Given the description of an element on the screen output the (x, y) to click on. 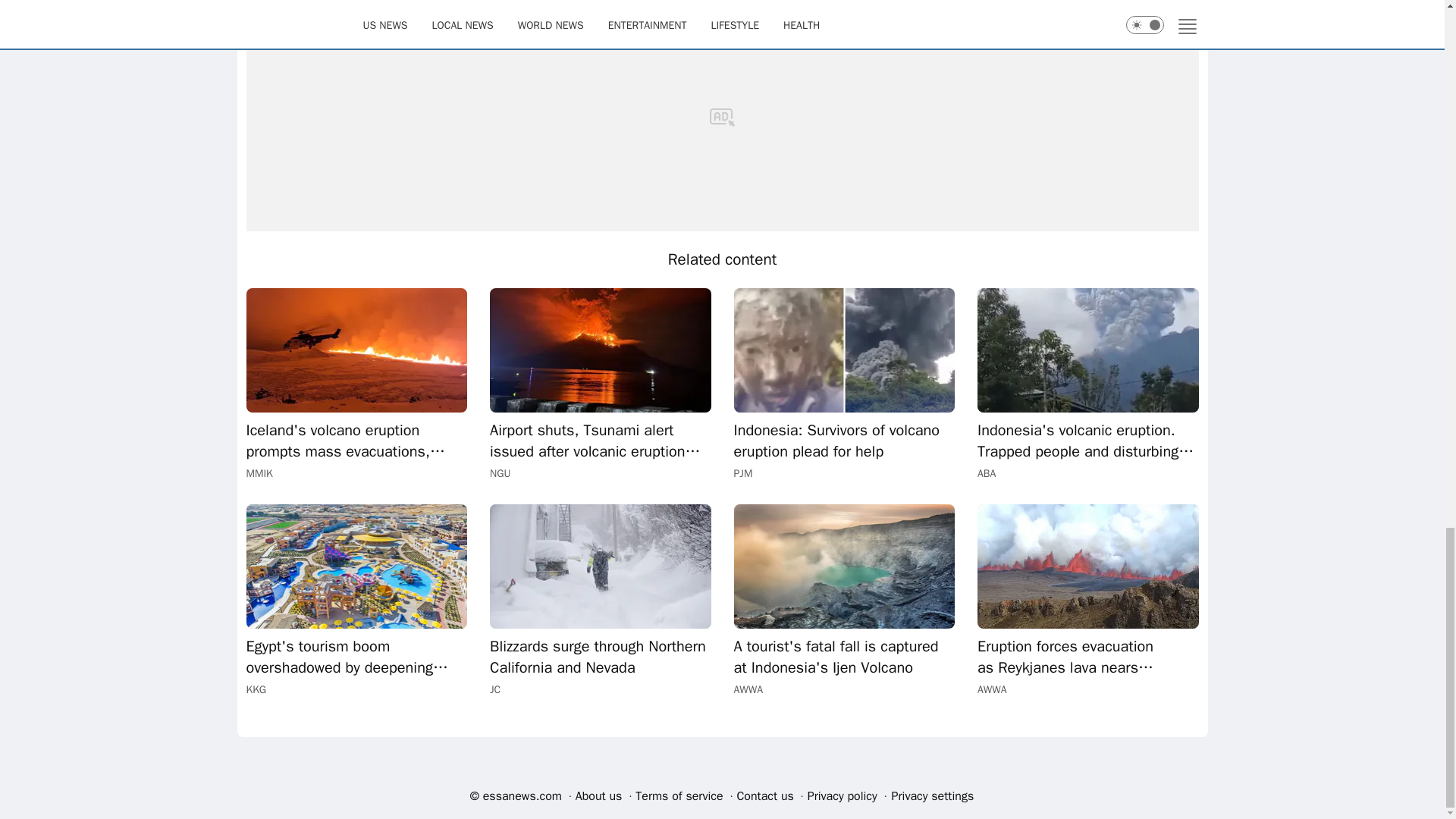
Terms of service (678, 795)
Indonesia: Survivors of volcano eruption plead for help (844, 350)
Indonesia: Survivors of volcano eruption plead for help (844, 441)
Blizzards surge through Northern California and Nevada (600, 566)
Blizzards surge through Northern California and Nevada (600, 657)
